Given the description of an element on the screen output the (x, y) to click on. 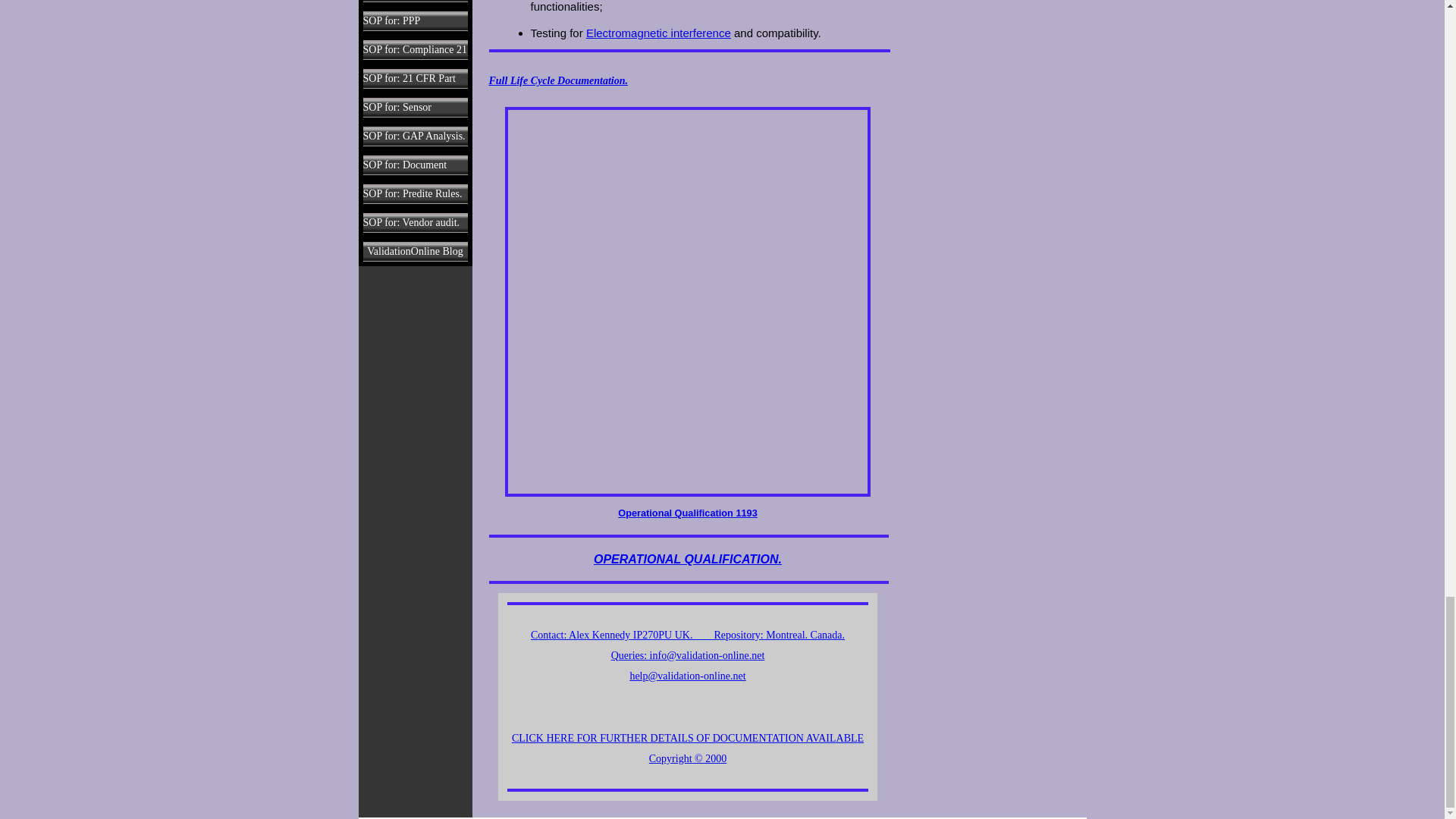
OPERATIONAL QUALIFICATION. (687, 558)
Click here for further details of documents available. (686, 696)
Electromagnetic interference (658, 32)
Full Life Cycle Documentation. (557, 80)
Operational Qualification 1193 (686, 504)
